Given the description of an element on the screen output the (x, y) to click on. 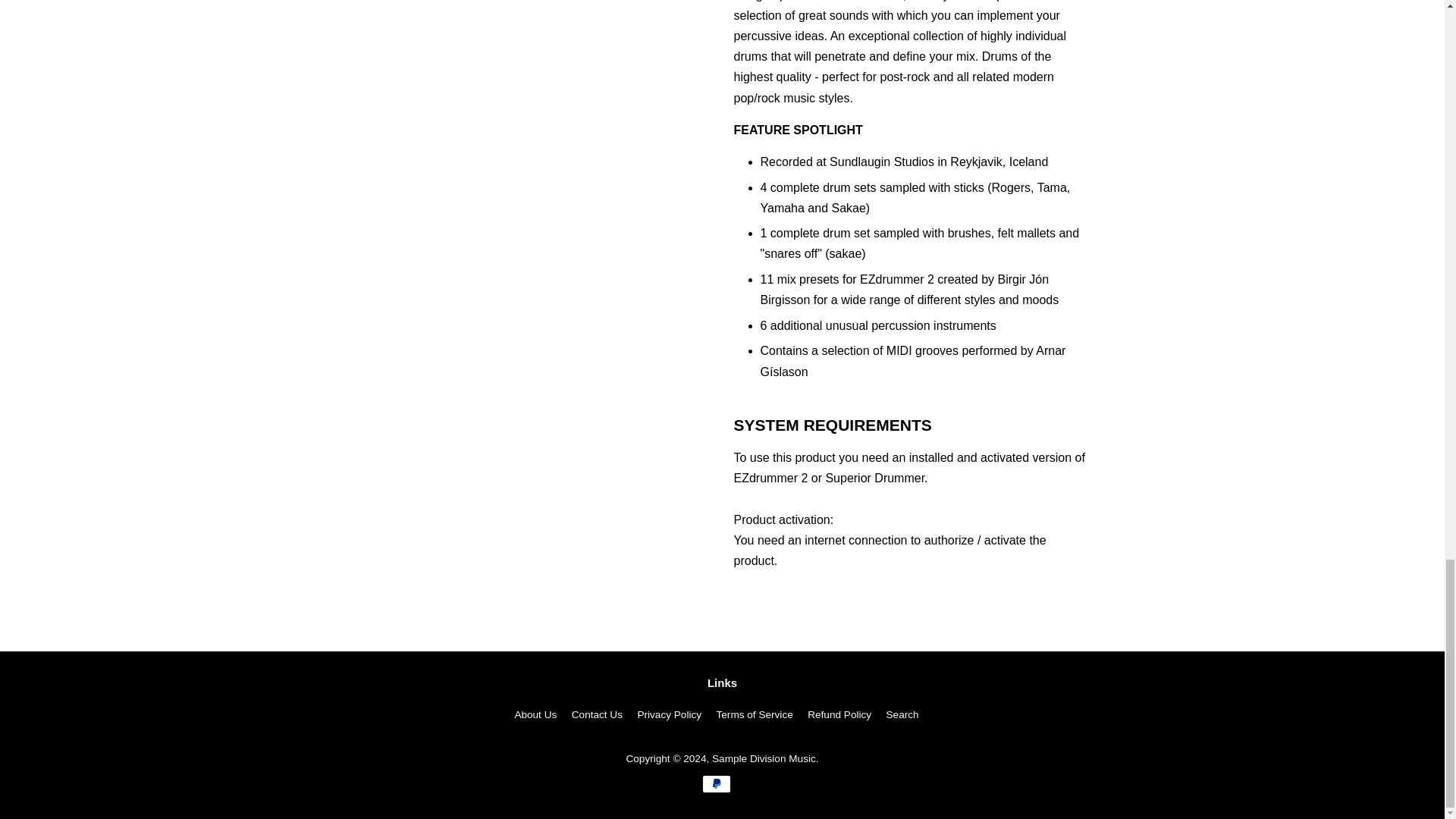
PayPal (715, 783)
